Given the description of an element on the screen output the (x, y) to click on. 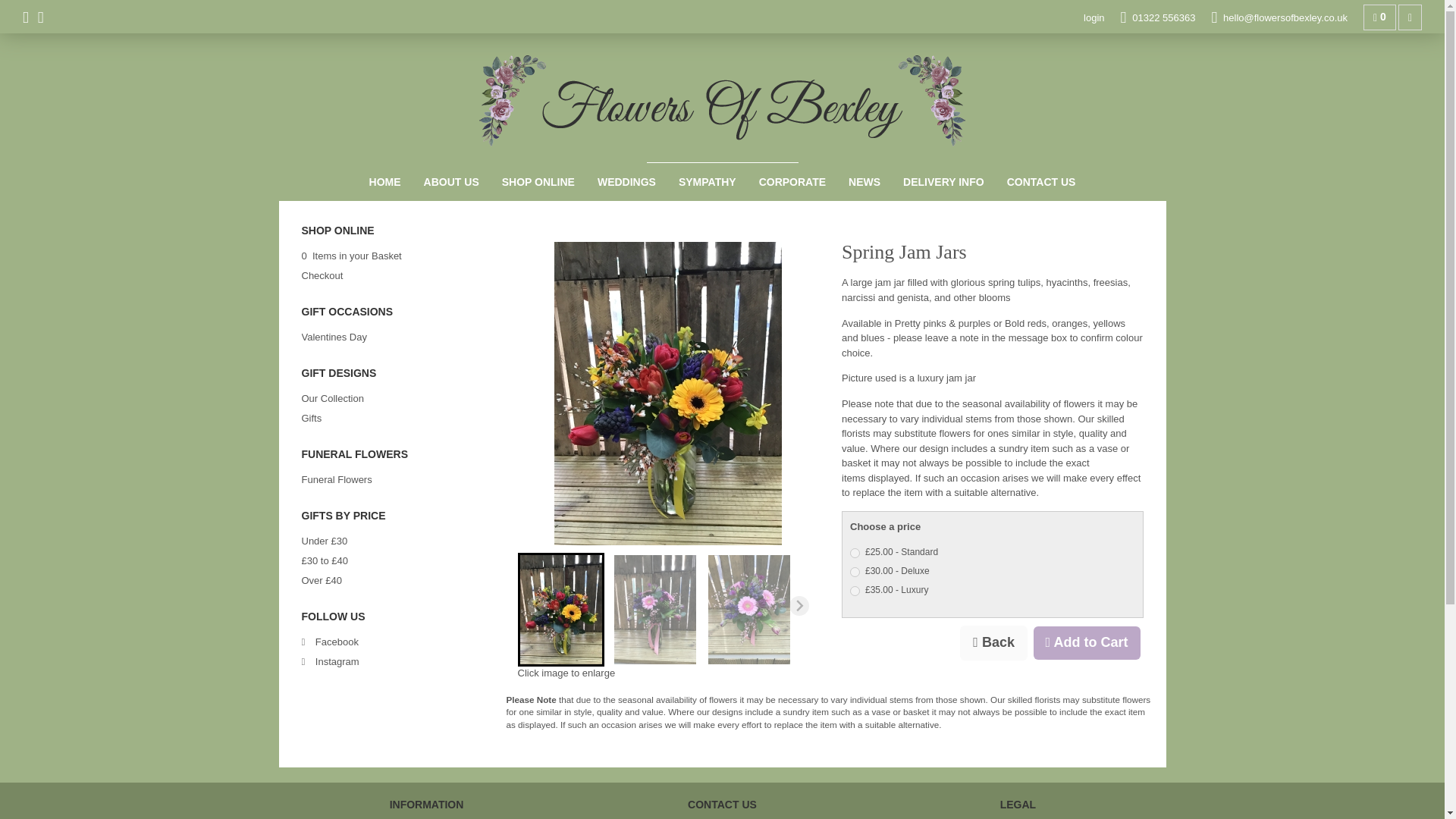
35.00 (855, 591)
Checkout (322, 275)
login (1093, 17)
DELIVERY INFO (943, 181)
CONTACT US (1041, 181)
30.00 (855, 572)
Sympathy (707, 181)
SHOP ONLINE (538, 181)
Weddings (626, 181)
CORPORATE (792, 181)
About Us (451, 181)
25.00 (855, 552)
HOME (385, 181)
WEDDINGS (626, 181)
Corporate (792, 181)
